Given the description of an element on the screen output the (x, y) to click on. 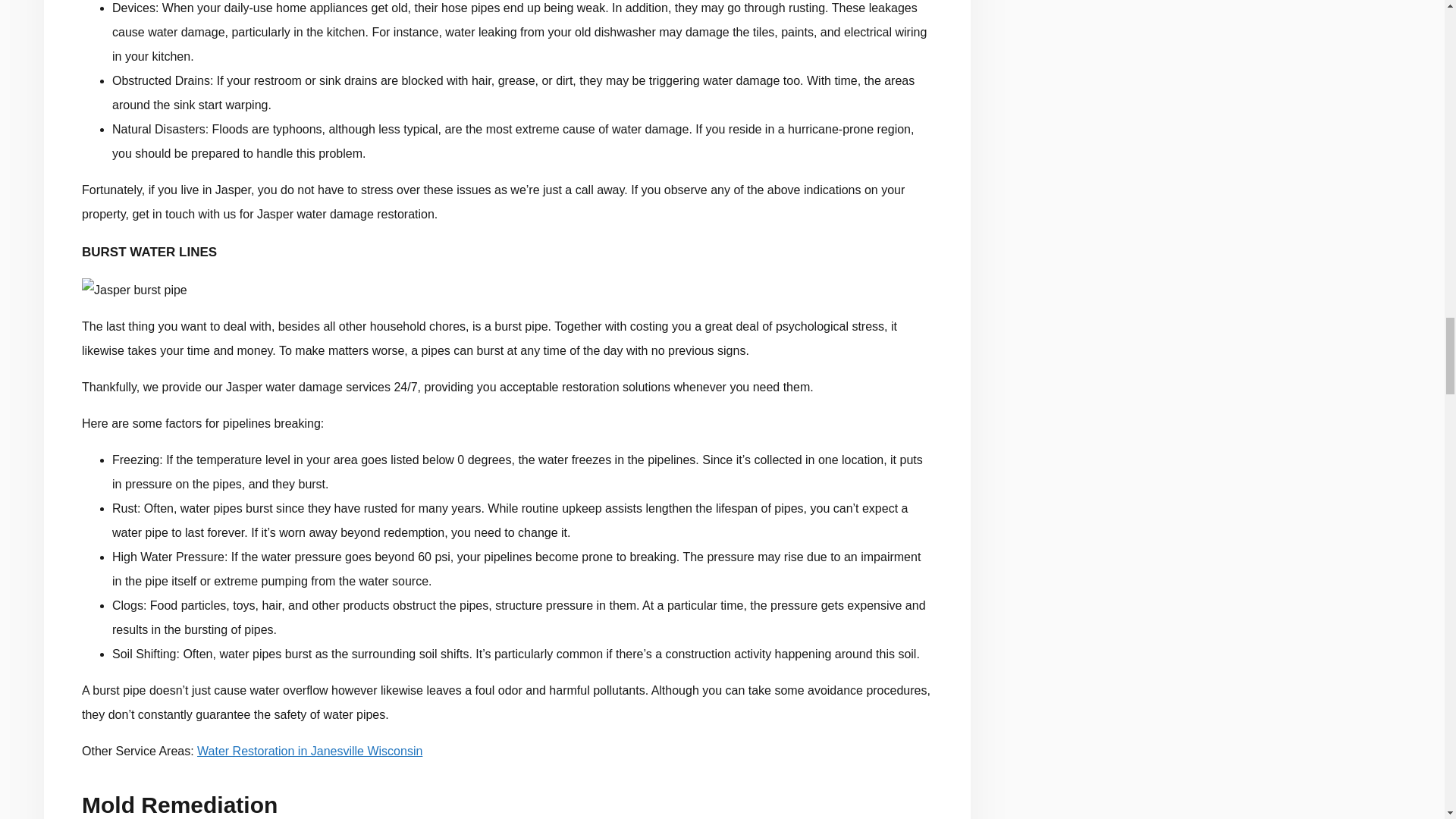
Water Restoration in Janesville Wisconsin (309, 750)
